Given the description of an element on the screen output the (x, y) to click on. 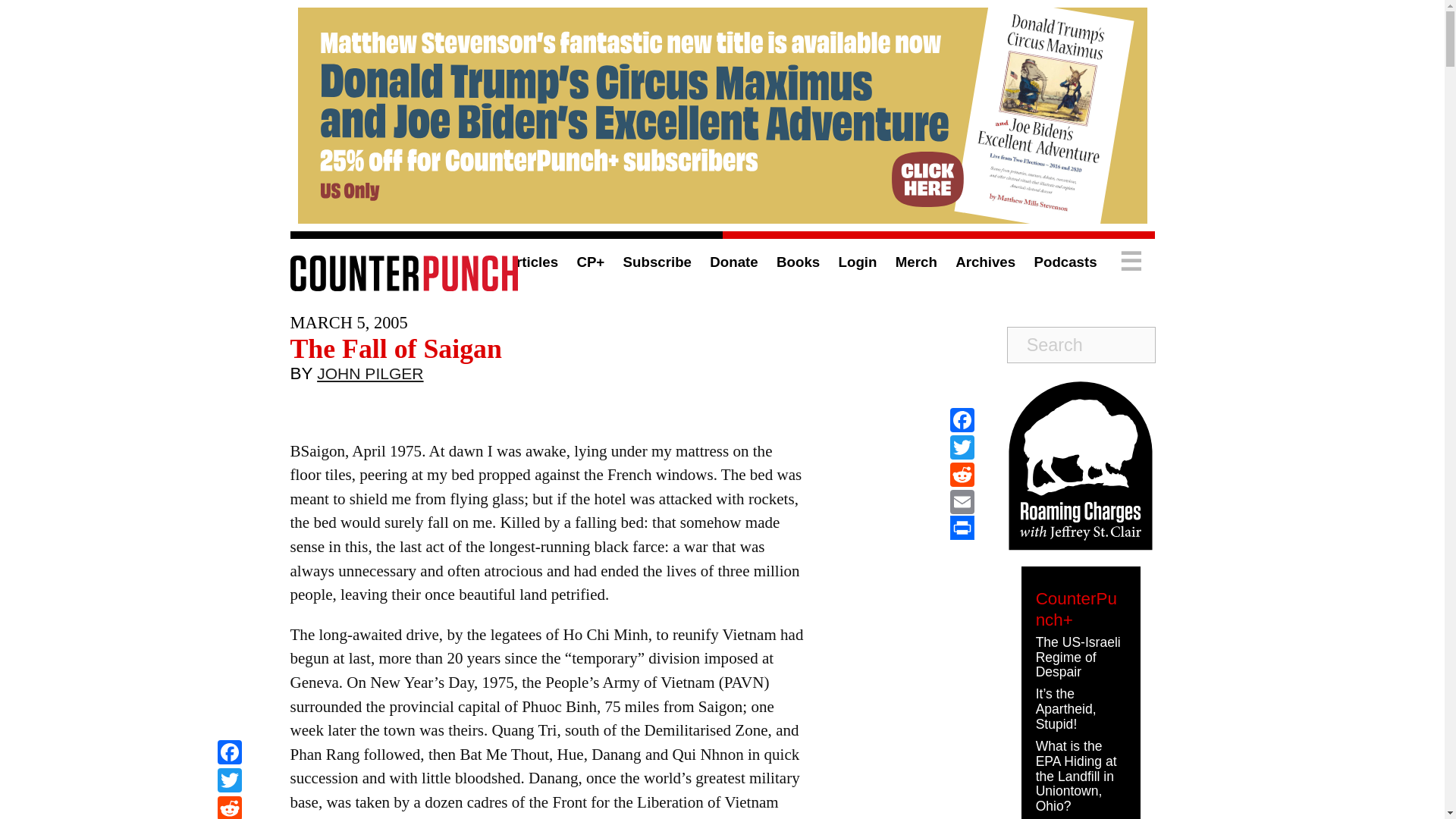
Reddit (229, 807)
Facebook (962, 420)
2005-03-05 (348, 322)
Twitter (229, 782)
Facebook (229, 754)
Books (797, 261)
Archives (984, 261)
Login (857, 261)
Twitter (962, 447)
Articles (531, 261)
Reddit (229, 807)
Email (962, 501)
Podcasts (1064, 261)
Subscribe (657, 261)
Print This Post (962, 527)
